Given the description of an element on the screen output the (x, y) to click on. 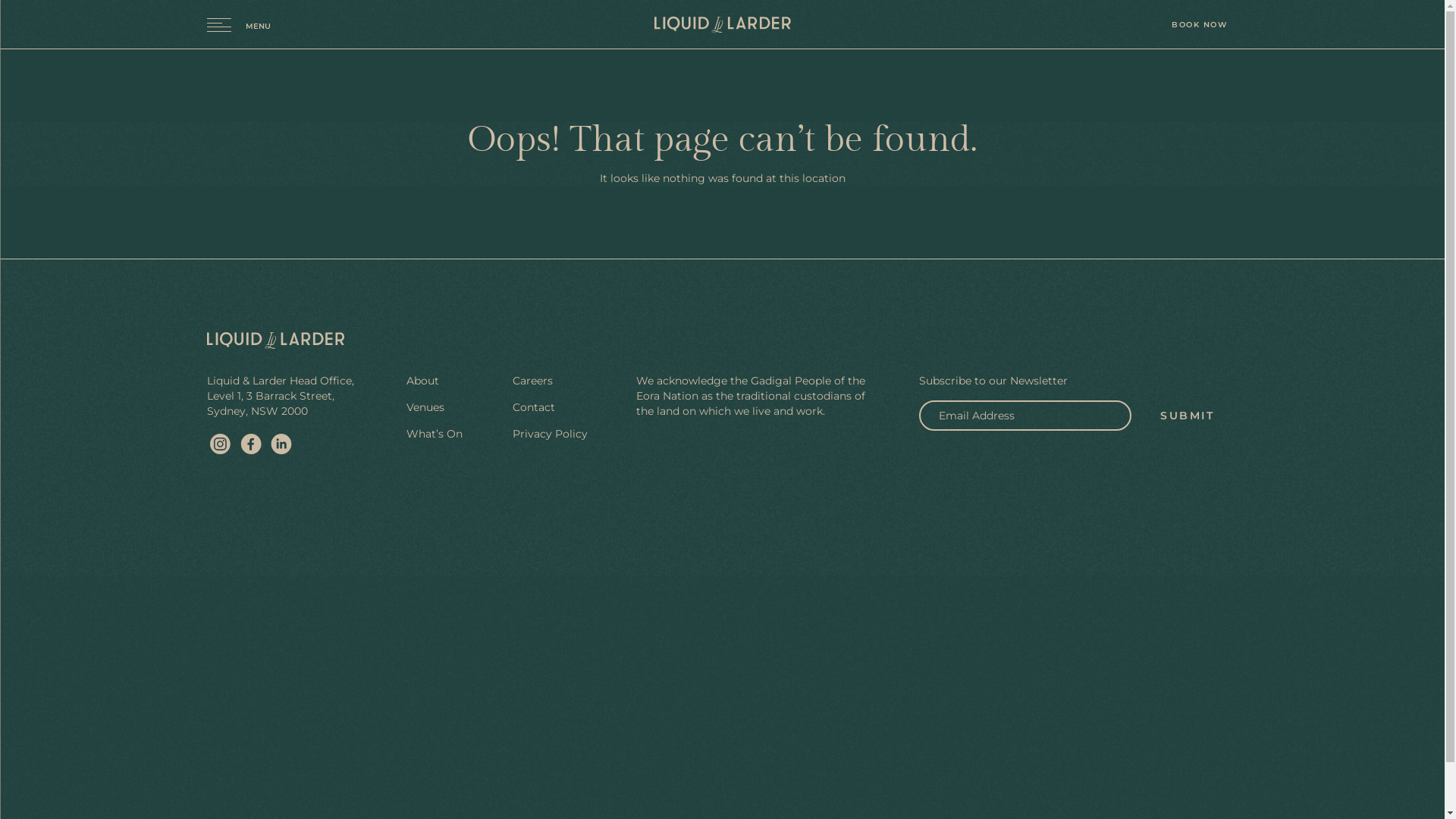
Privacy Policy Element type: text (549, 433)
MENU Element type: text (237, 23)
Careers Element type: text (532, 380)
Contact Element type: text (533, 407)
SUBMIT Element type: text (1186, 415)
About Element type: text (422, 380)
Venues Element type: text (425, 407)
BOOK NOW Element type: text (1198, 23)
